Given the description of an element on the screen output the (x, y) to click on. 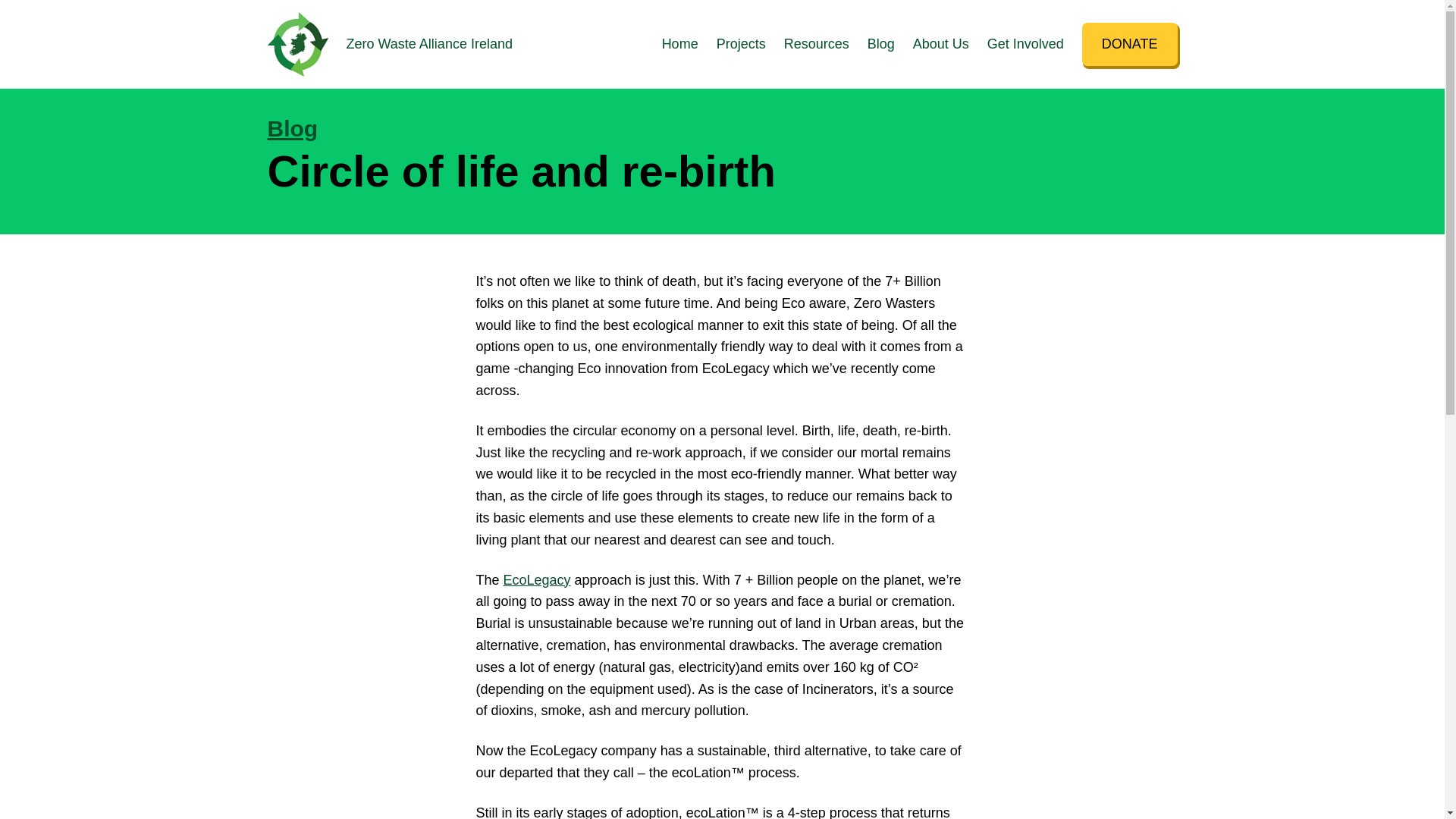
Blog (881, 44)
DONATE (1129, 44)
Zero Waste Alliance Ireland (429, 43)
Resources (816, 44)
Projects (740, 44)
Get Involved (1025, 44)
Blog (291, 128)
Home (680, 44)
About Us (940, 44)
EcoLegacy (536, 580)
